Given the description of an element on the screen output the (x, y) to click on. 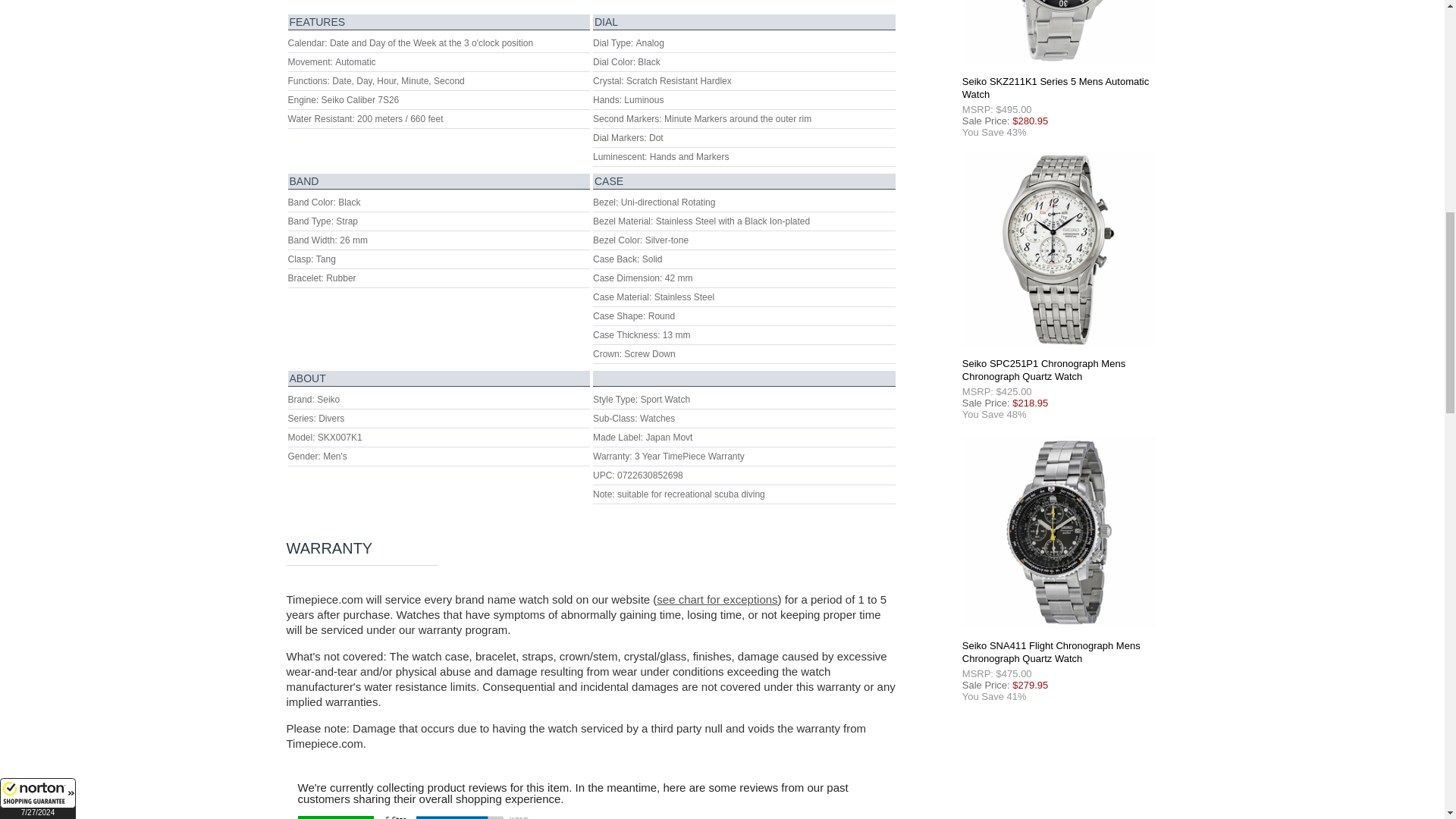
Seiko SPC251P1 Chronograph Mens Chronograph Quartz Watch (1059, 249)
Click to see Chart (716, 599)
Seiko SKZ211K1 Series 5 Mens Automatic Watch (1059, 32)
